Given the description of an element on the screen output the (x, y) to click on. 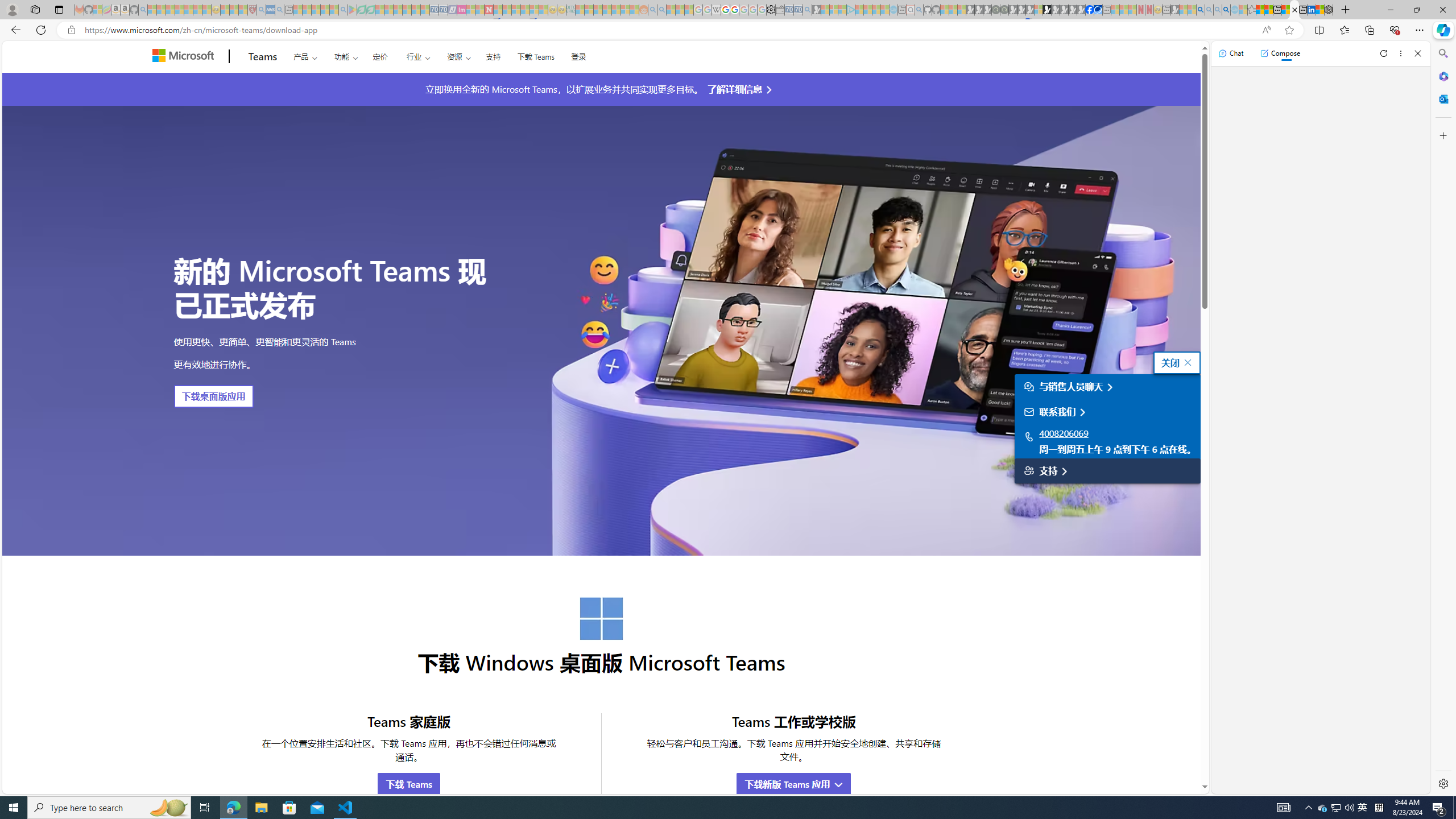
LinkedIn (1311, 9)
